Given the description of an element on the screen output the (x, y) to click on. 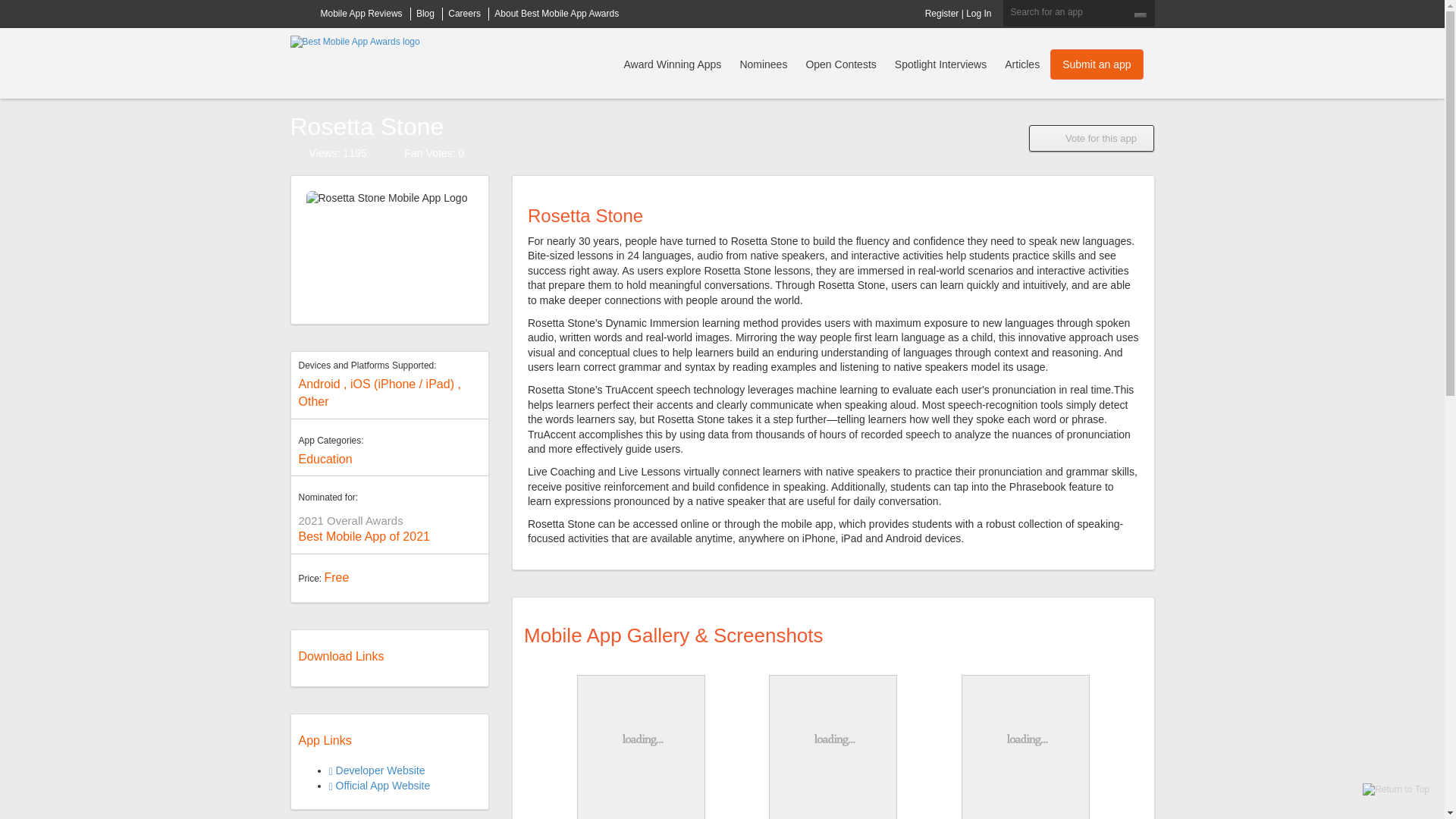
Official App Website (379, 785)
Education (325, 459)
Nominees (763, 62)
Articles (424, 13)
Careers (464, 13)
About Best Mobile App Awards (556, 13)
Search (1140, 15)
Best Mobile App of 2021 (363, 535)
Log into your account to manage your apps (978, 13)
Blog (424, 13)
Submit an app (1095, 64)
View all mobile app reviews (360, 13)
Register for your own account to manage your apps (941, 13)
Log In (978, 13)
